Given the description of an element on the screen output the (x, y) to click on. 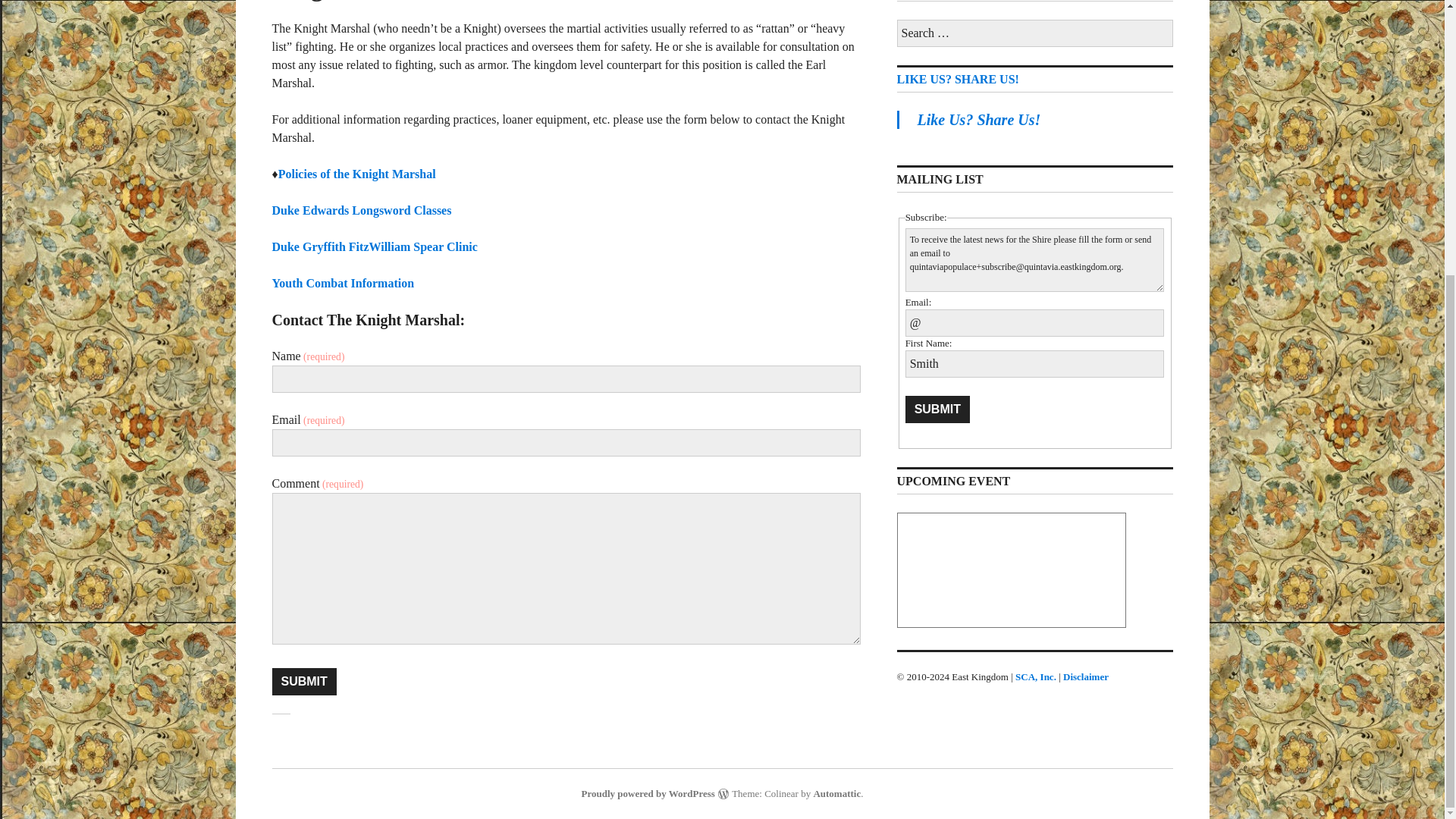
Smith (1034, 363)
Submit (937, 409)
